Given the description of an element on the screen output the (x, y) to click on. 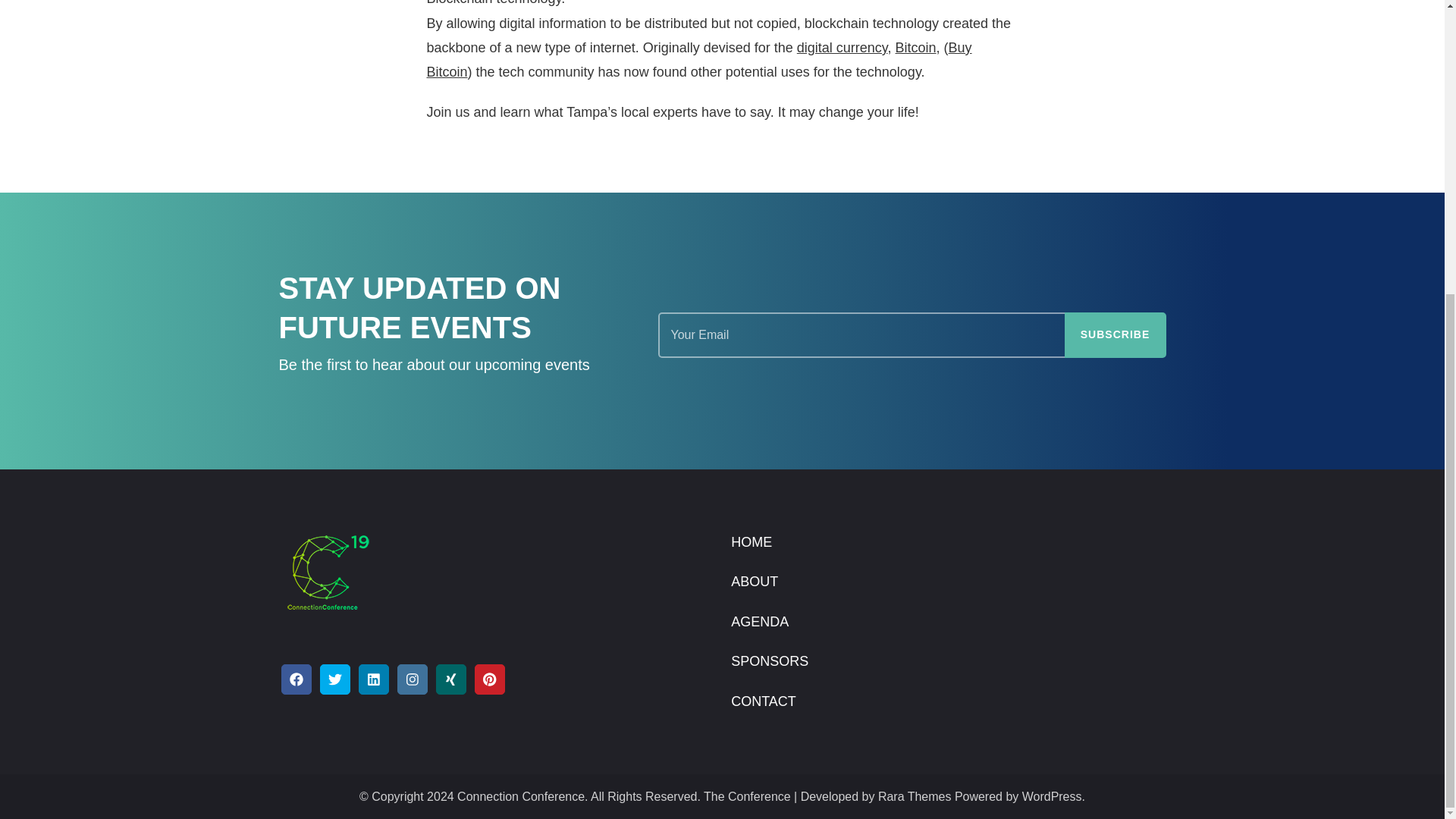
facebook (296, 679)
Bitcoin (915, 47)
Buy Bitcoin (698, 59)
pinterest (489, 679)
digital currency (842, 47)
Connection Conference (521, 796)
CONTACT (763, 701)
Rara Themes (914, 796)
AGENDA (759, 621)
ABOUT (753, 581)
HOME (750, 541)
linkedin (373, 679)
xing (450, 679)
instagram (412, 679)
WordPress (1051, 796)
